Given the description of an element on the screen output the (x, y) to click on. 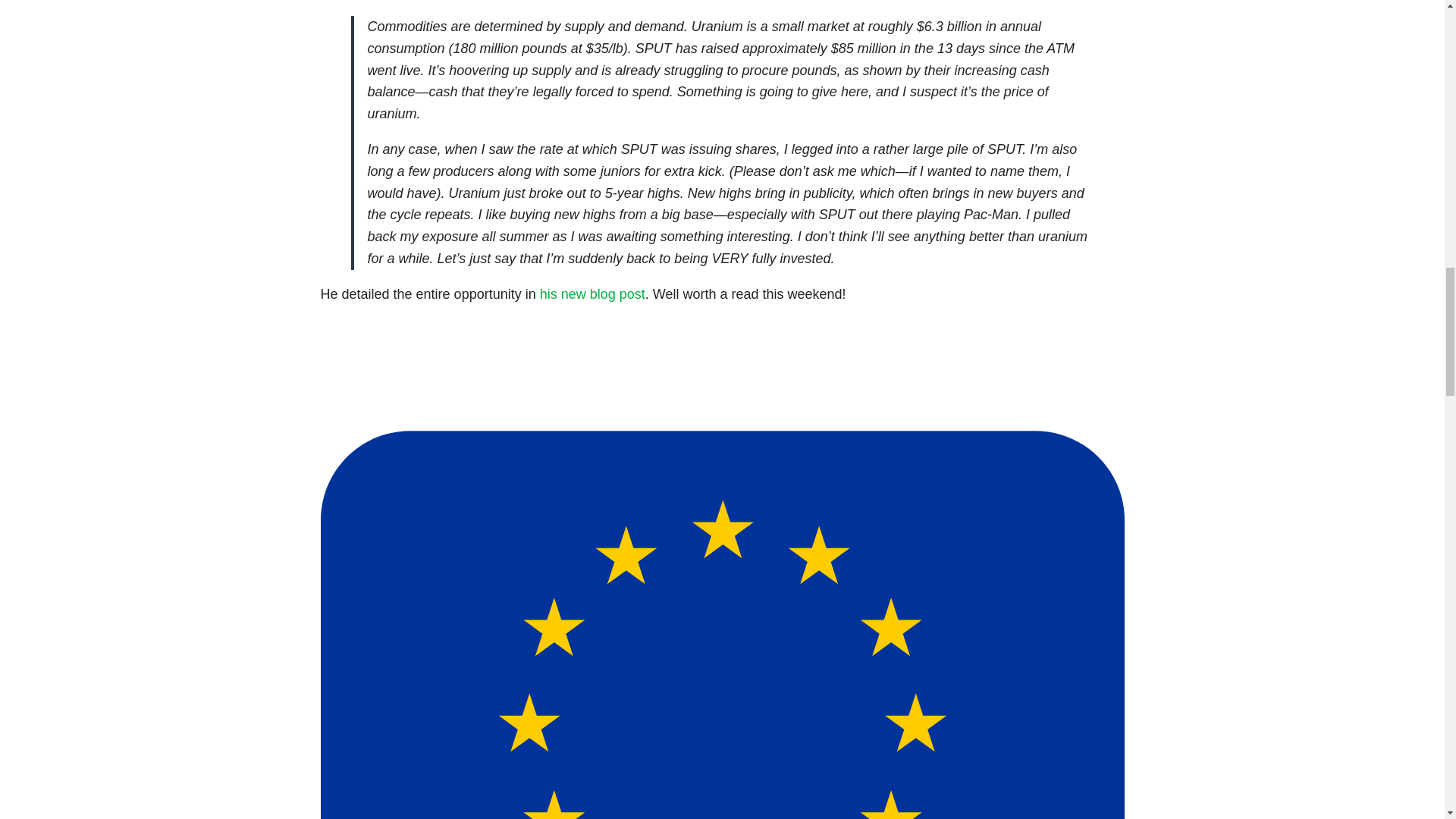
his new blog post (592, 294)
